Given the description of an element on the screen output the (x, y) to click on. 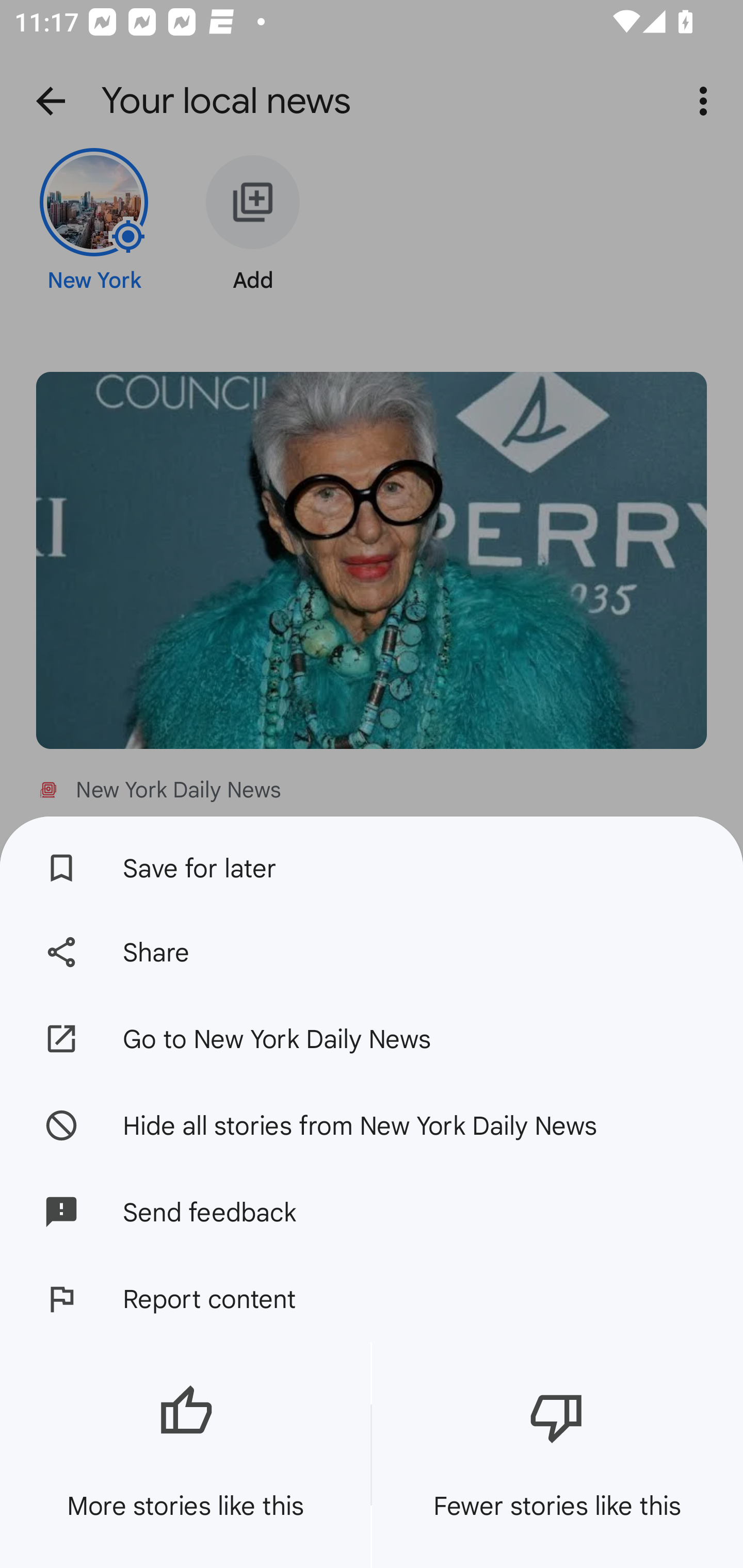
Save for later (371, 862)
Share (371, 952)
Go to New York Daily News (371, 1038)
Hide all stories from New York Daily News (371, 1124)
Send feedback (371, 1211)
Report content (371, 1298)
More stories like this (185, 1455)
Fewer stories like this (557, 1455)
